Given the description of an element on the screen output the (x, y) to click on. 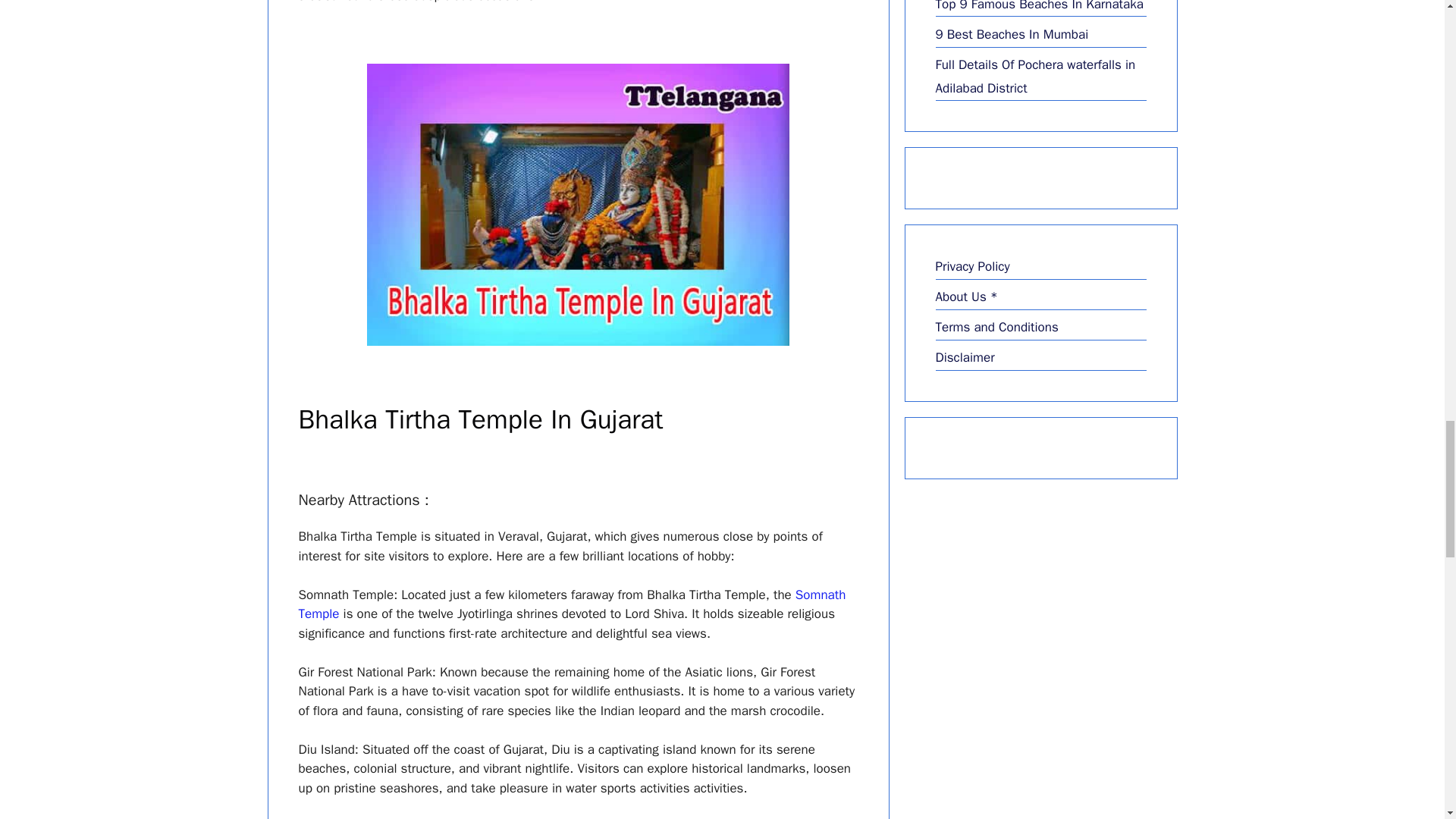
Bhalka Tirtha Temple In Gujarat (577, 203)
